Given the description of an element on the screen output the (x, y) to click on. 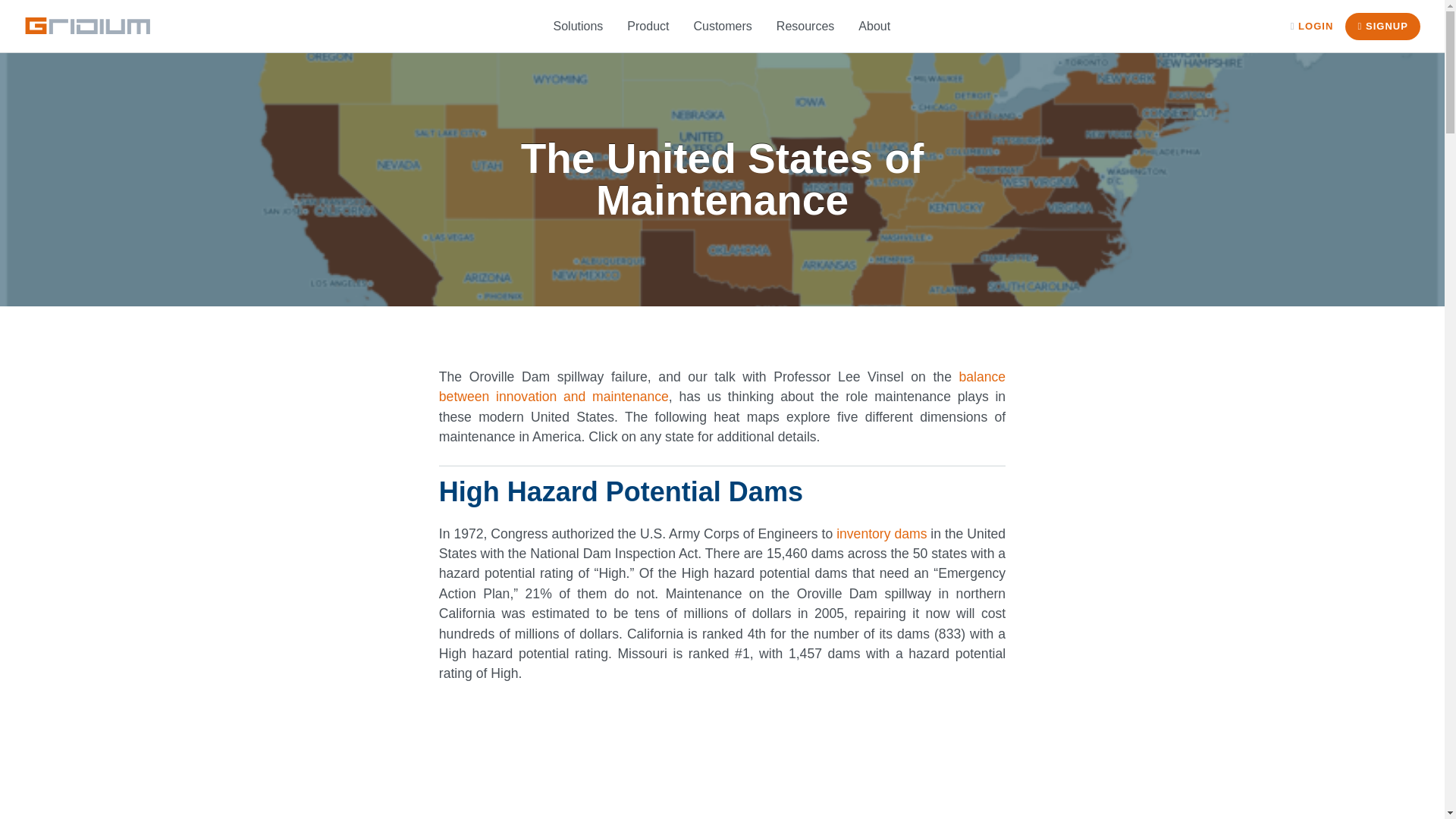
Resources (804, 26)
 SIGNUP (1383, 26)
 LOGIN (1311, 26)
inventory dams (880, 533)
Customers (721, 26)
Solutions (578, 26)
Gridium (88, 26)
balance between innovation and maintenance (722, 386)
Product (647, 26)
About (873, 26)
